Given the description of an element on the screen output the (x, y) to click on. 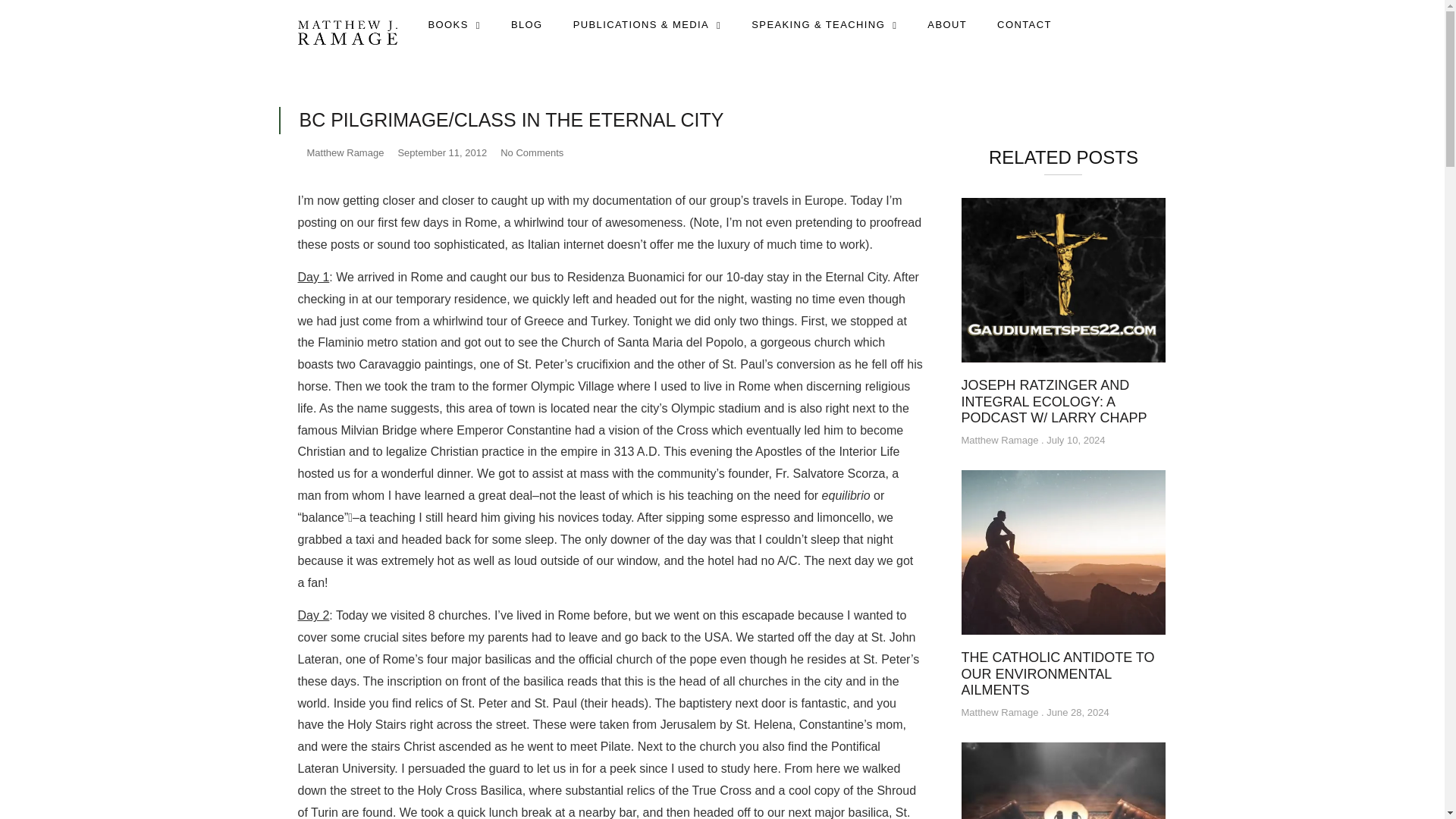
CONTACT (1024, 24)
BLOG (526, 24)
ABOUT (946, 24)
BOOKS (453, 24)
